Given the description of an element on the screen output the (x, y) to click on. 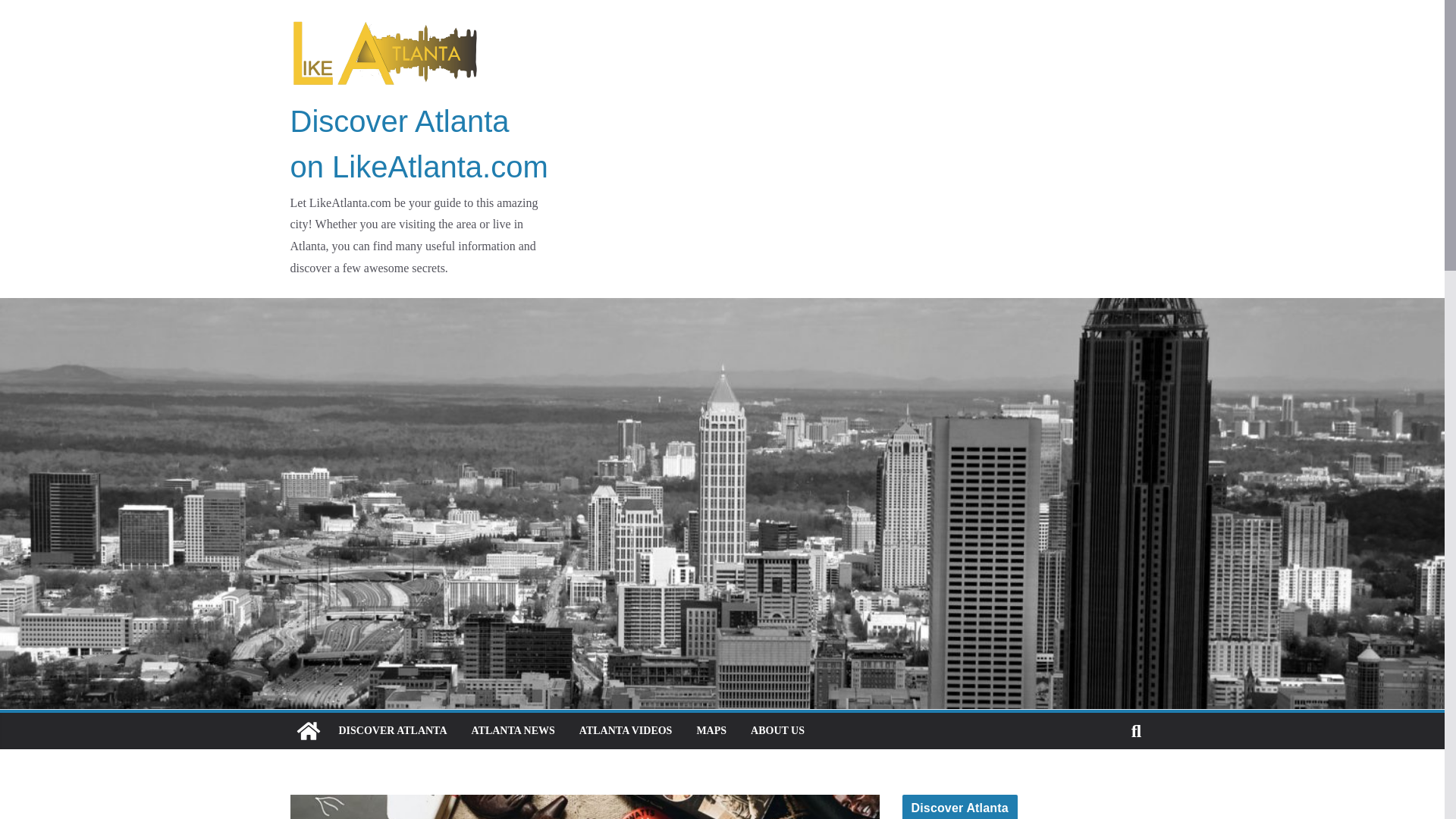
Discover Atlanta on LikeAtlanta.com (418, 143)
ABOUT US (778, 731)
MAPS (710, 731)
Discover Atlanta on LikeAtlanta.com (418, 143)
DISCOVER ATLANTA (391, 731)
ATLANTA VIDEOS (625, 731)
ATLANTA NEWS (512, 731)
Discover Atlanta on LikeAtlanta.com (307, 730)
